Given the description of an element on the screen output the (x, y) to click on. 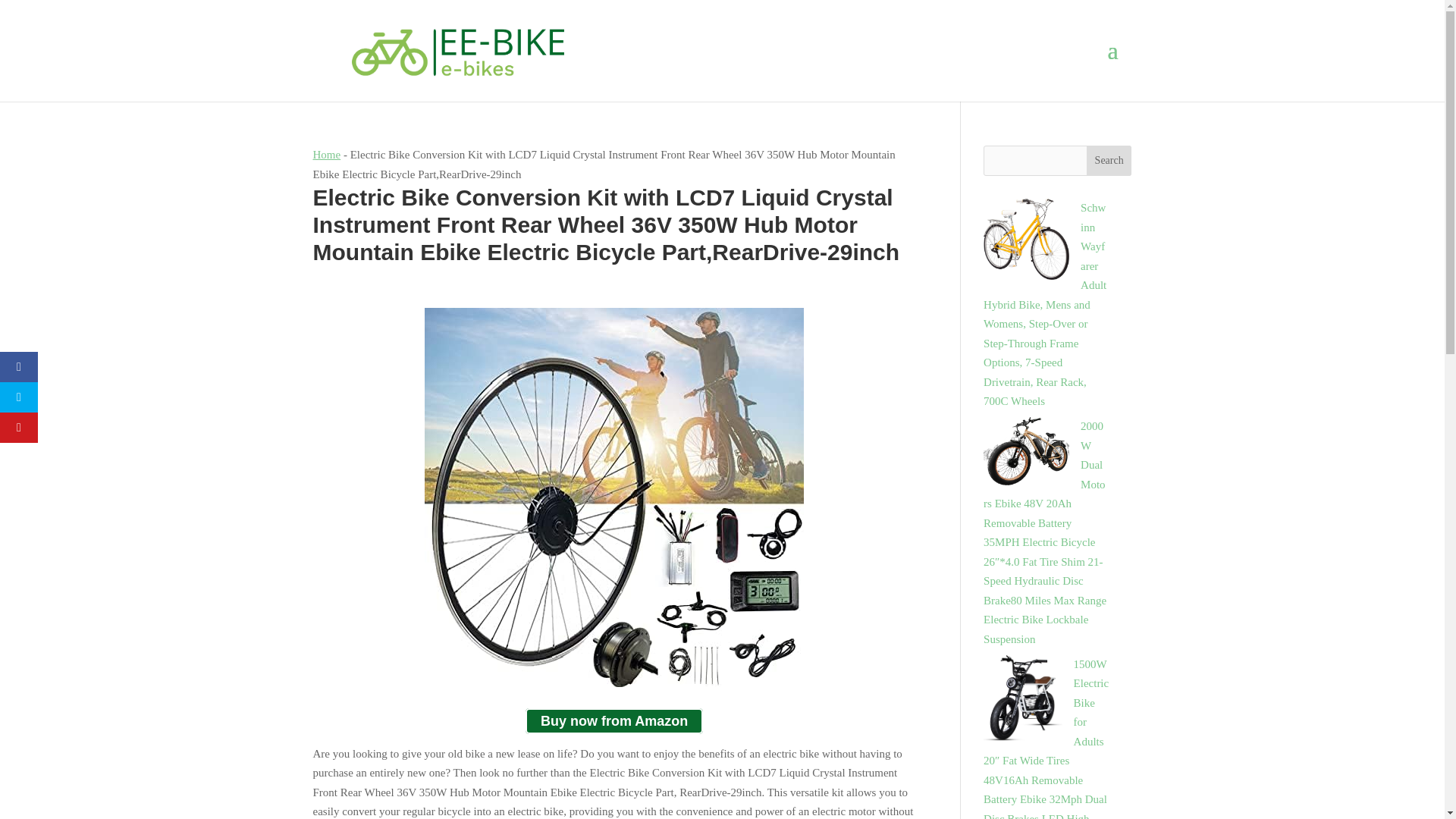
Buy now from Amazon (614, 721)
Search (1109, 160)
Home (326, 154)
